Given the description of an element on the screen output the (x, y) to click on. 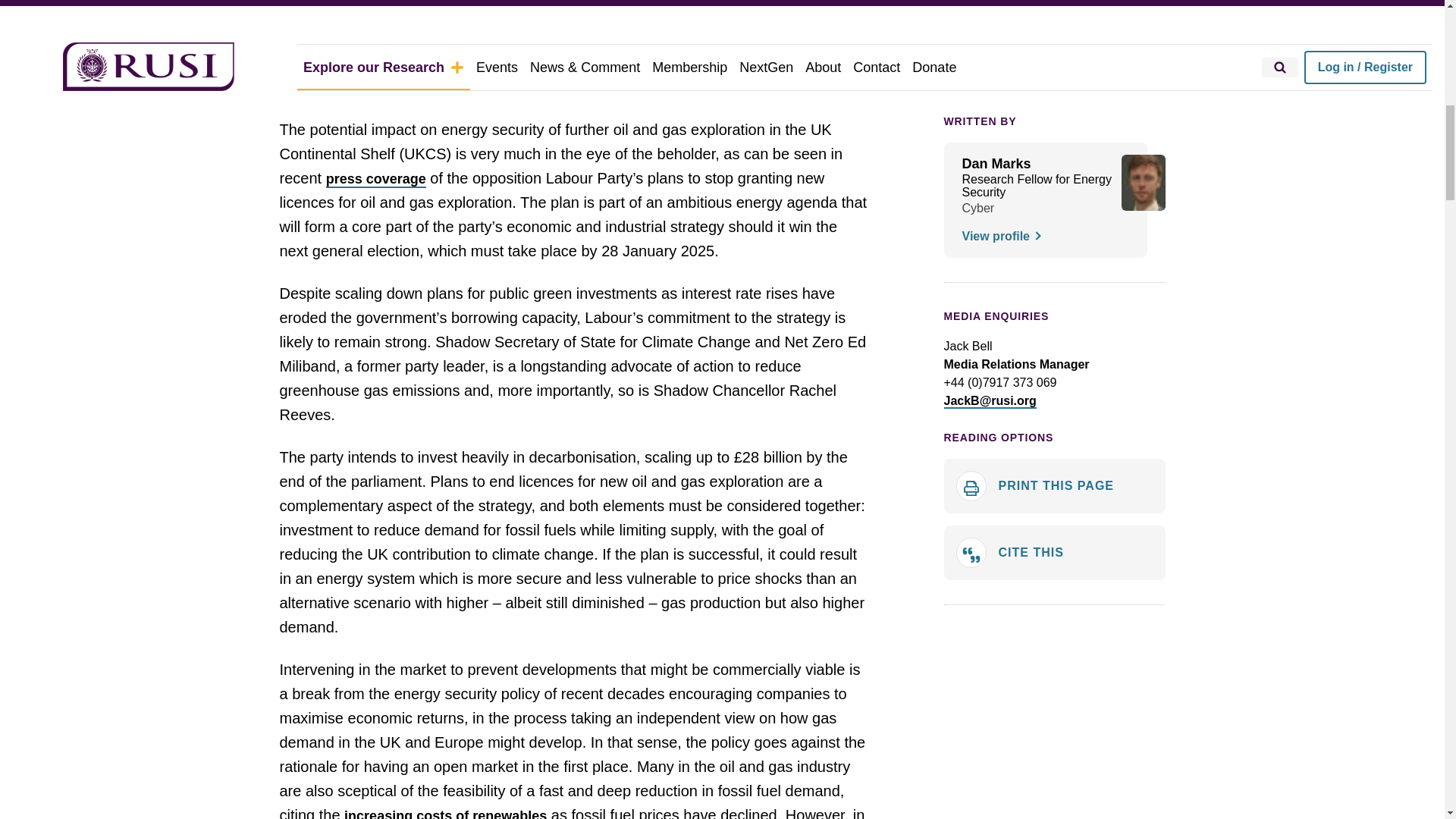
increasing costs of renewables (445, 813)
press coverage (376, 179)
Click and paste to cite (1053, 552)
